Given the description of an element on the screen output the (x, y) to click on. 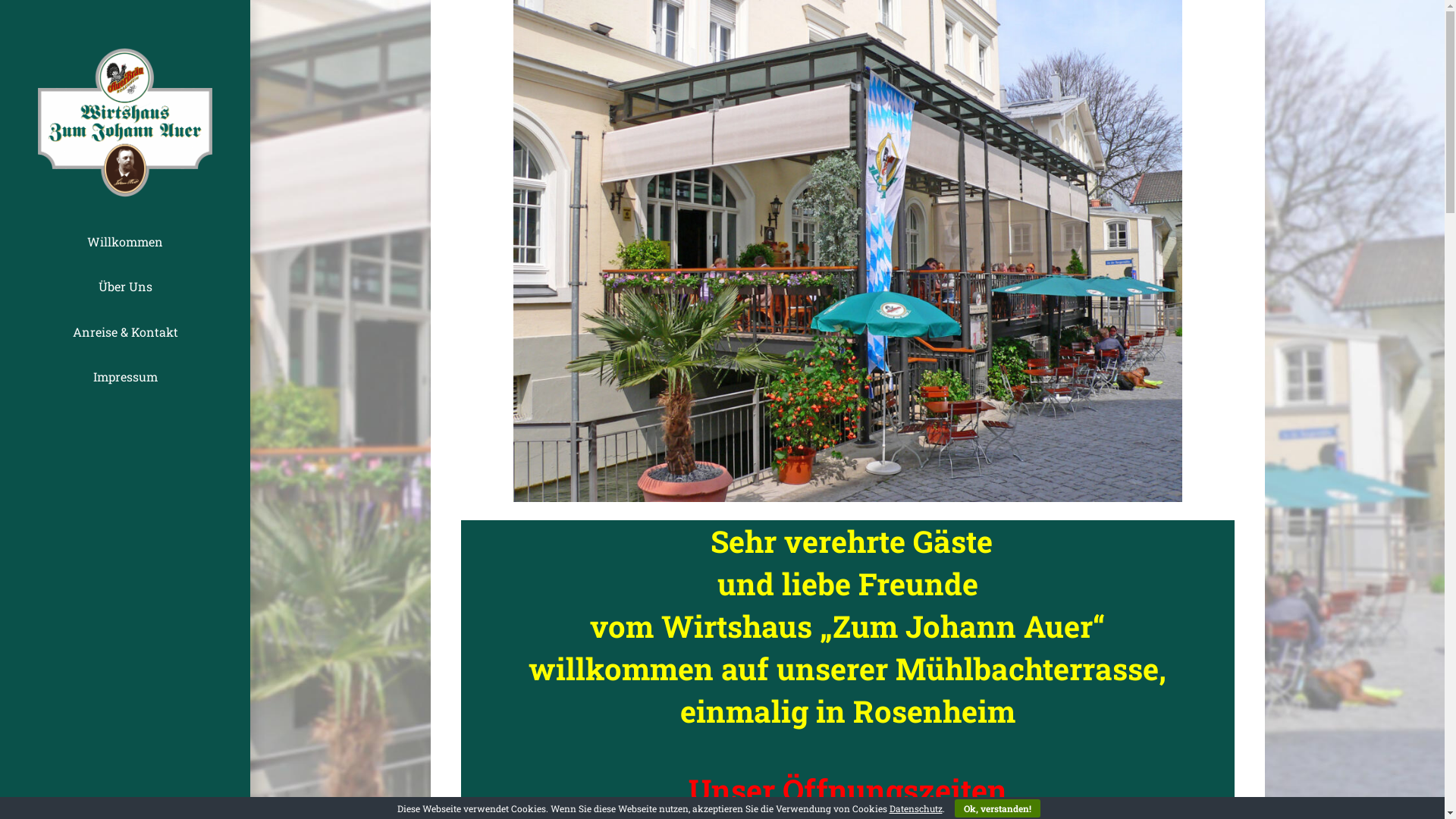
Impressum Element type: text (125, 376)
Willkommen Element type: text (125, 241)
Datenschutz Element type: text (914, 808)
Ok, verstanden! Element type: text (996, 808)
Anreise & Kontakt Element type: text (125, 331)
